Given the description of an element on the screen output the (x, y) to click on. 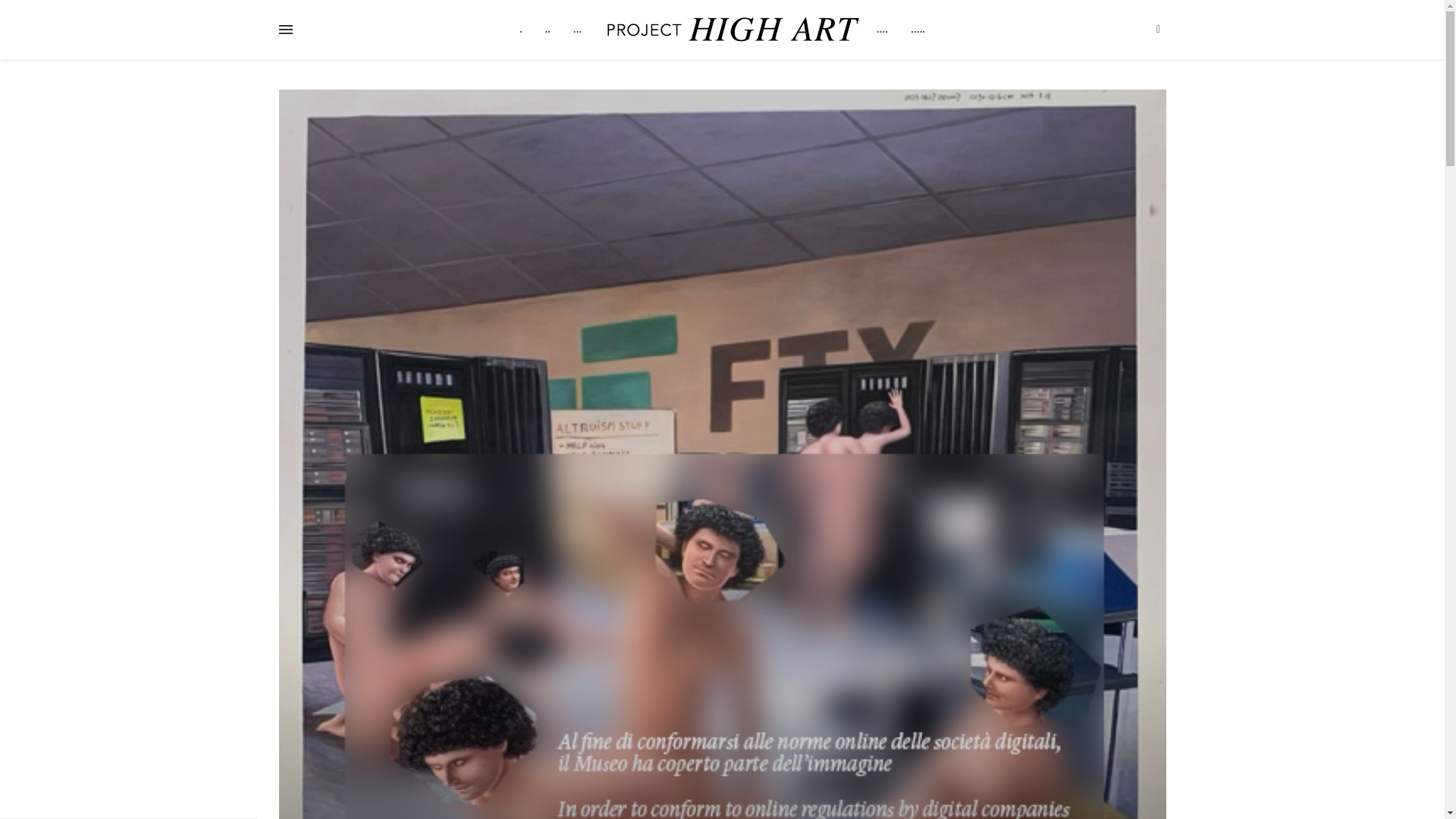
.. (547, 29)
